Given the description of an element on the screen output the (x, y) to click on. 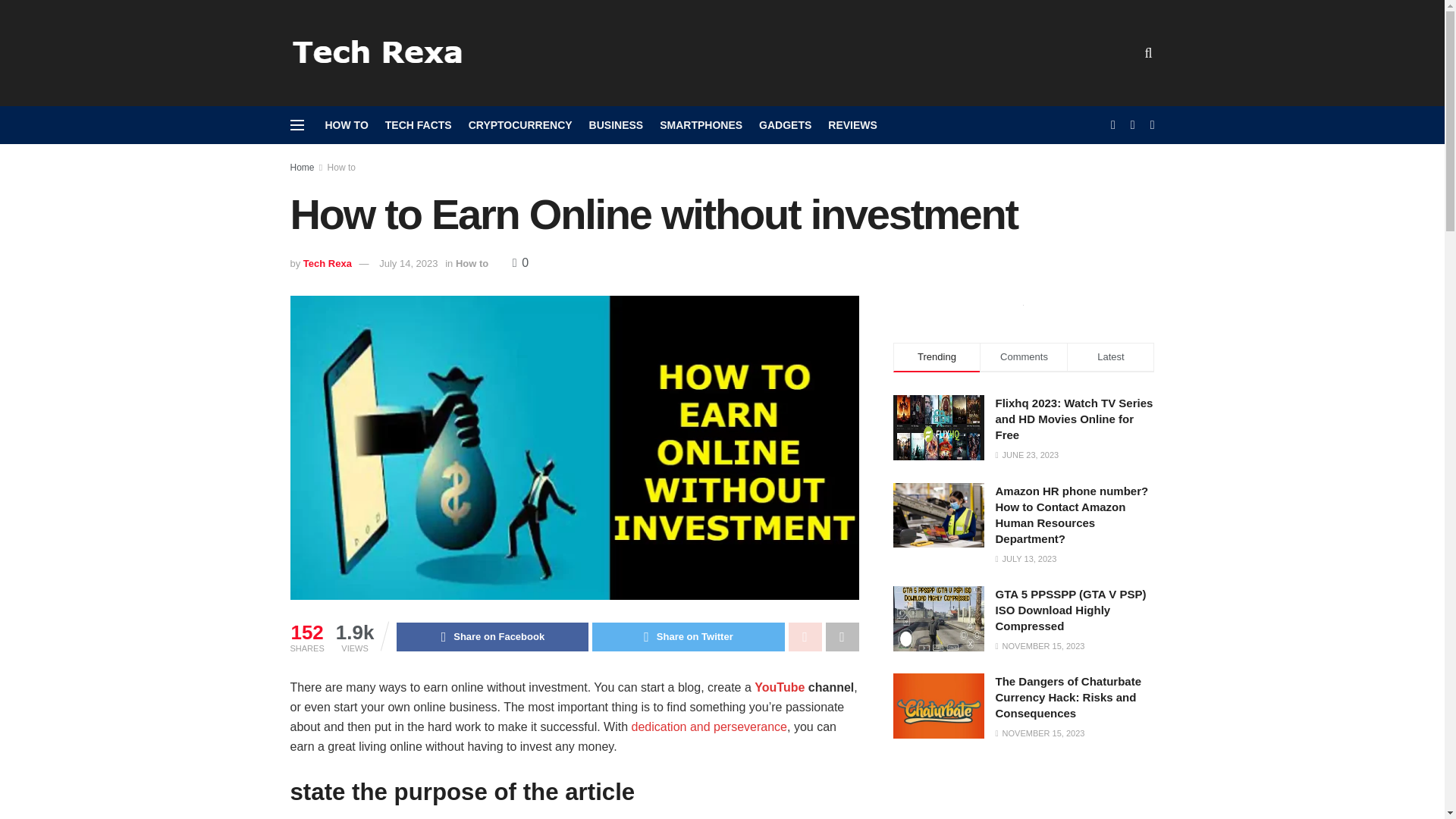
REVIEWS (852, 125)
GADGETS (784, 125)
0 (520, 262)
HOW TO (346, 125)
How to (341, 167)
TECH FACTS (418, 125)
July 14, 2023 (408, 263)
Share on Facebook (492, 636)
CRYPTOCURRENCY (520, 125)
Tech Rexa (327, 263)
BUSINESS (616, 125)
SMARTPHONES (700, 125)
Home (301, 167)
How to (471, 263)
Share on Twitter (688, 636)
